Given the description of an element on the screen output the (x, y) to click on. 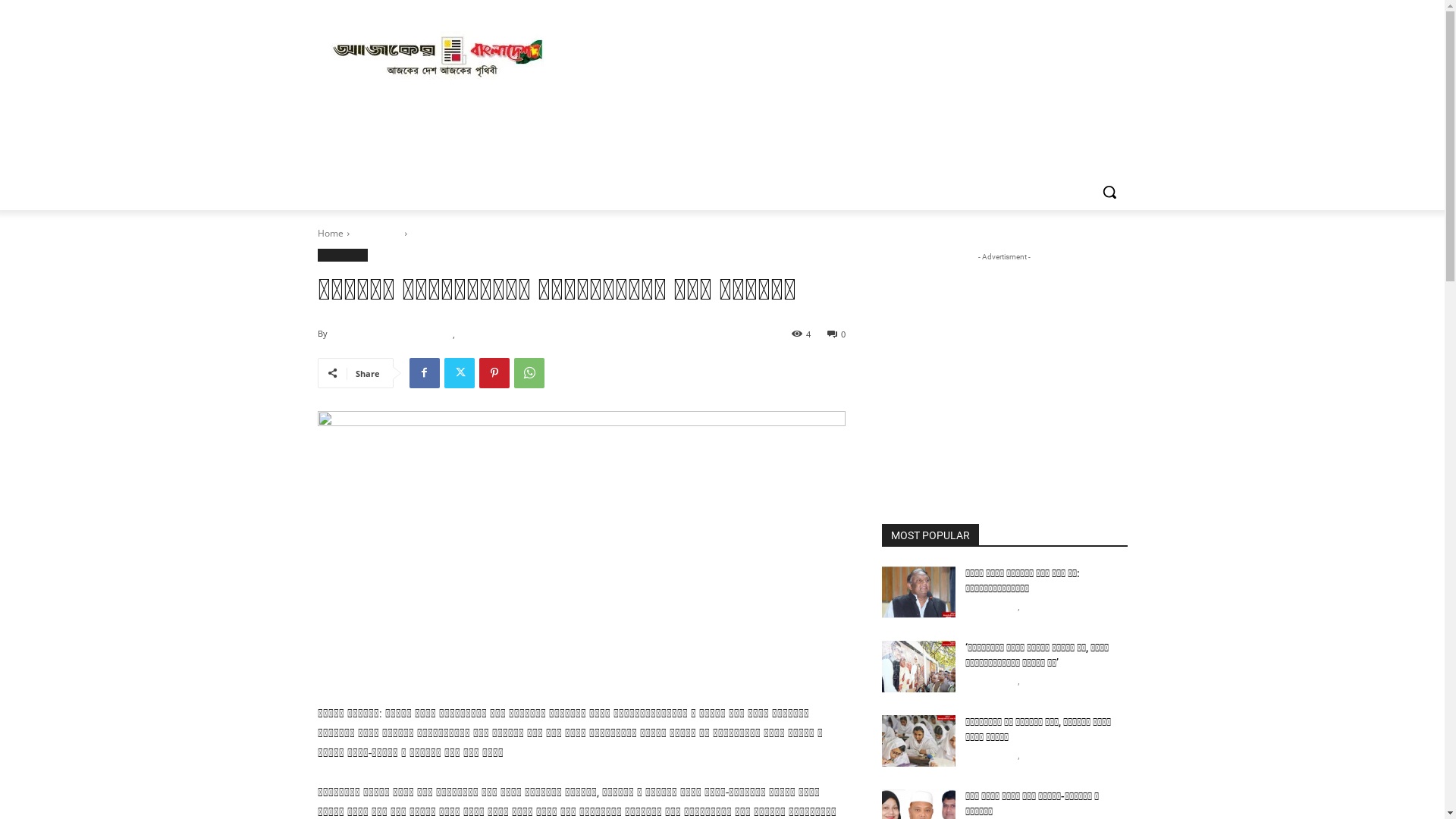
Pinterest Element type: hover (494, 372)
Twitter Element type: hover (459, 372)
Advertisement Element type: hover (836, 55)
Home Element type: text (329, 232)
0 Element type: text (835, 332)
WhatsApp Element type: hover (529, 372)
Facebook Element type: hover (424, 372)
Advertisement Element type: hover (1003, 359)
